Given the description of an element on the screen output the (x, y) to click on. 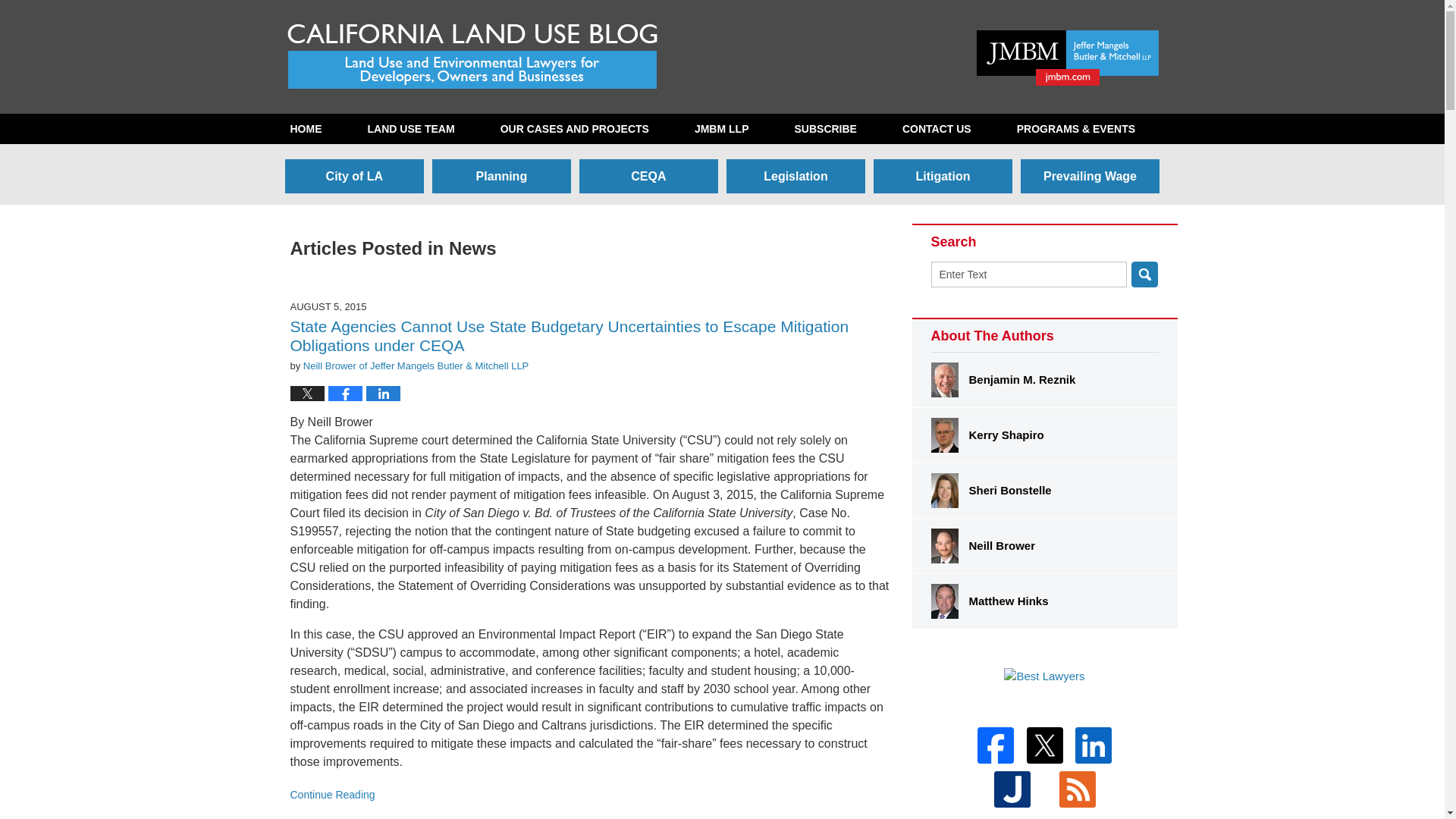
CEQA (648, 175)
Prevailing Wage (1089, 175)
OUR CASES AND PROJECTS (574, 128)
SUBSCRIBE (825, 128)
California Land Use Blog (472, 55)
LAND USE TEAM (410, 128)
City of LA (354, 175)
CONTACT US (936, 128)
Continue Reading (588, 795)
Legislation (795, 175)
Litigation (942, 175)
Planning (501, 175)
HOME (304, 128)
